Given the description of an element on the screen output the (x, y) to click on. 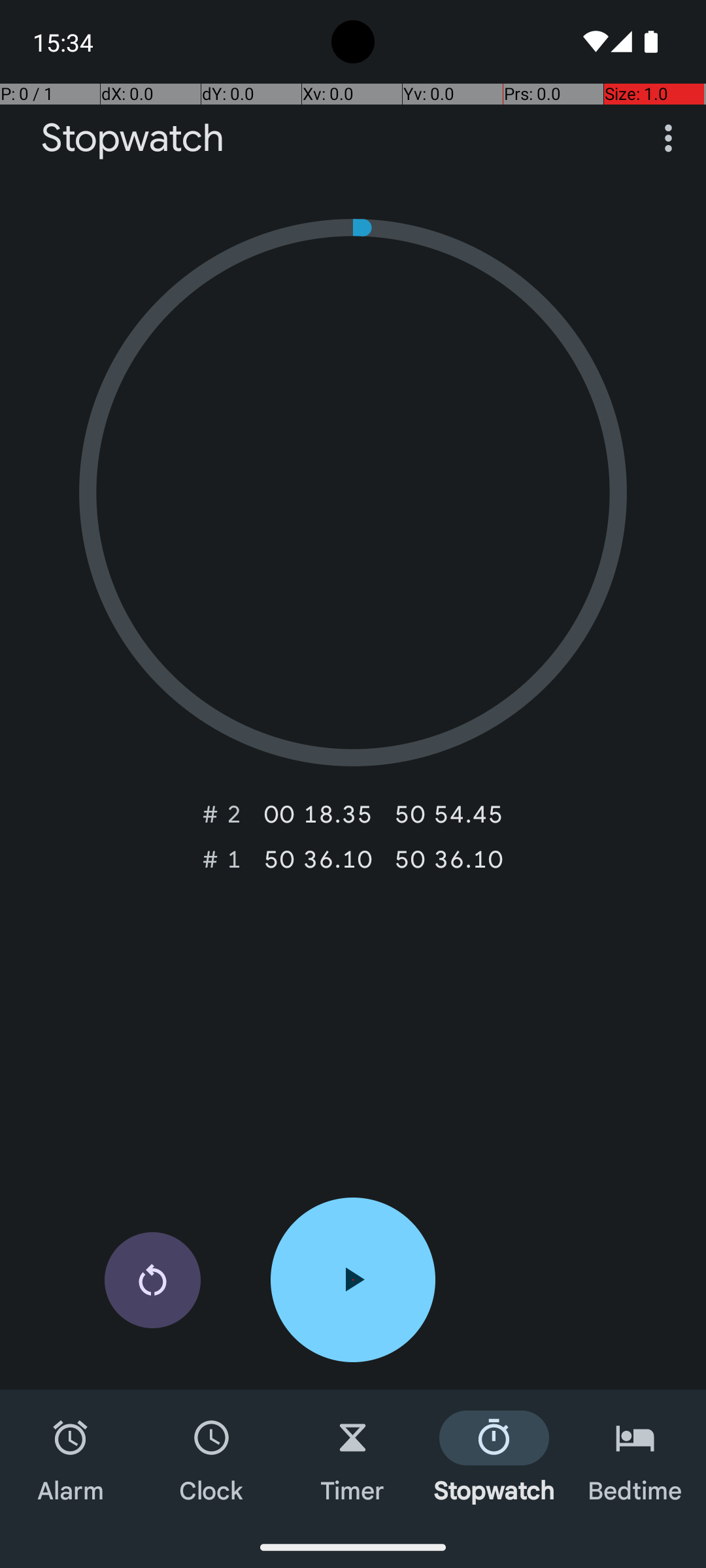
# 2 Element type: android.widget.TextView (221, 814)
00‎ 18.35 Element type: android.widget.TextView (317, 814)
50‎ 54.45 Element type: android.widget.TextView (448, 814)
# 1 Element type: android.widget.TextView (221, 859)
50‎ 36.10 Element type: android.widget.TextView (317, 859)
Wifi signal full. Element type: android.widget.FrameLayout (593, 41)
